Given the description of an element on the screen output the (x, y) to click on. 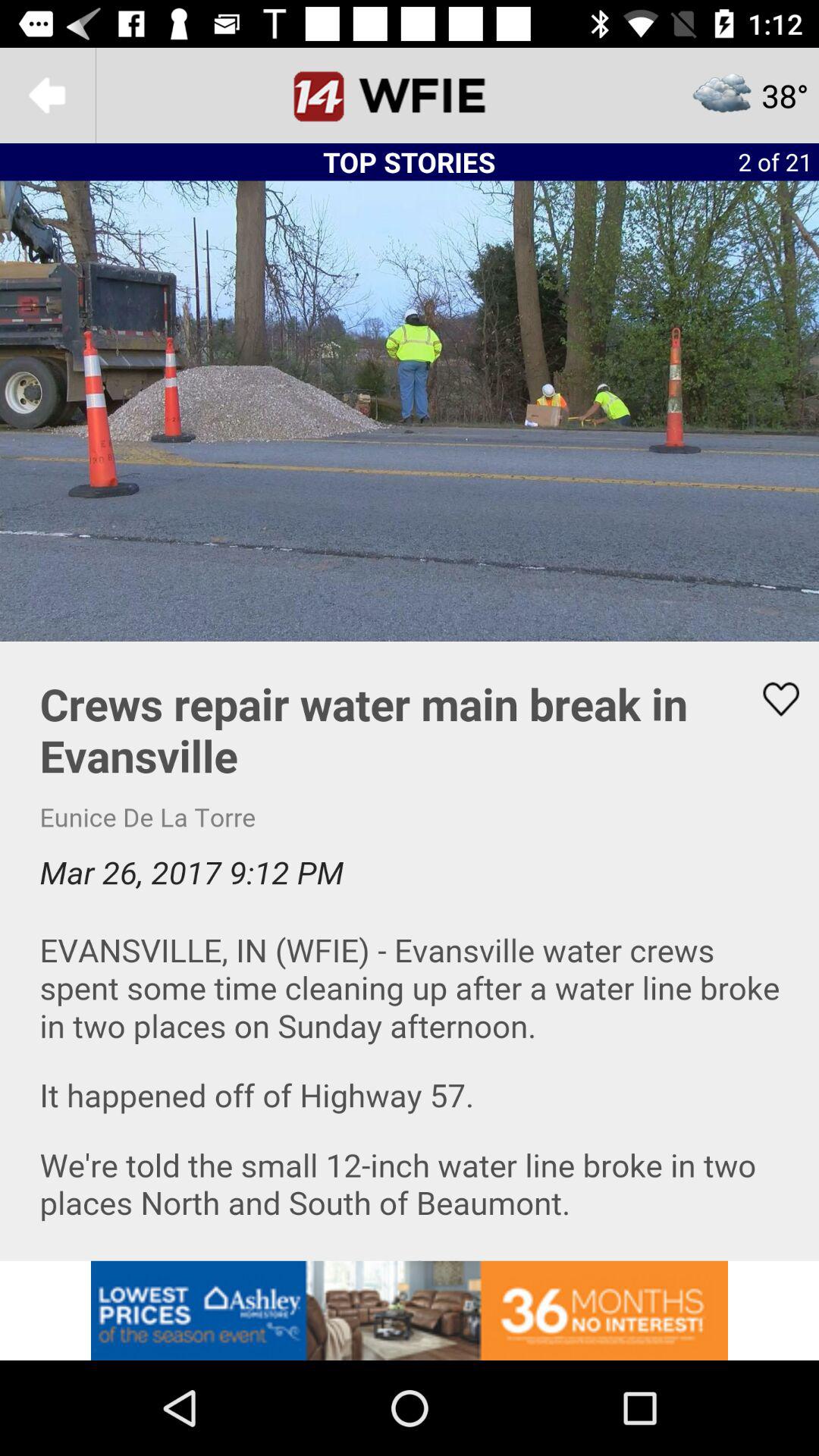
title banner (409, 95)
